Given the description of an element on the screen output the (x, y) to click on. 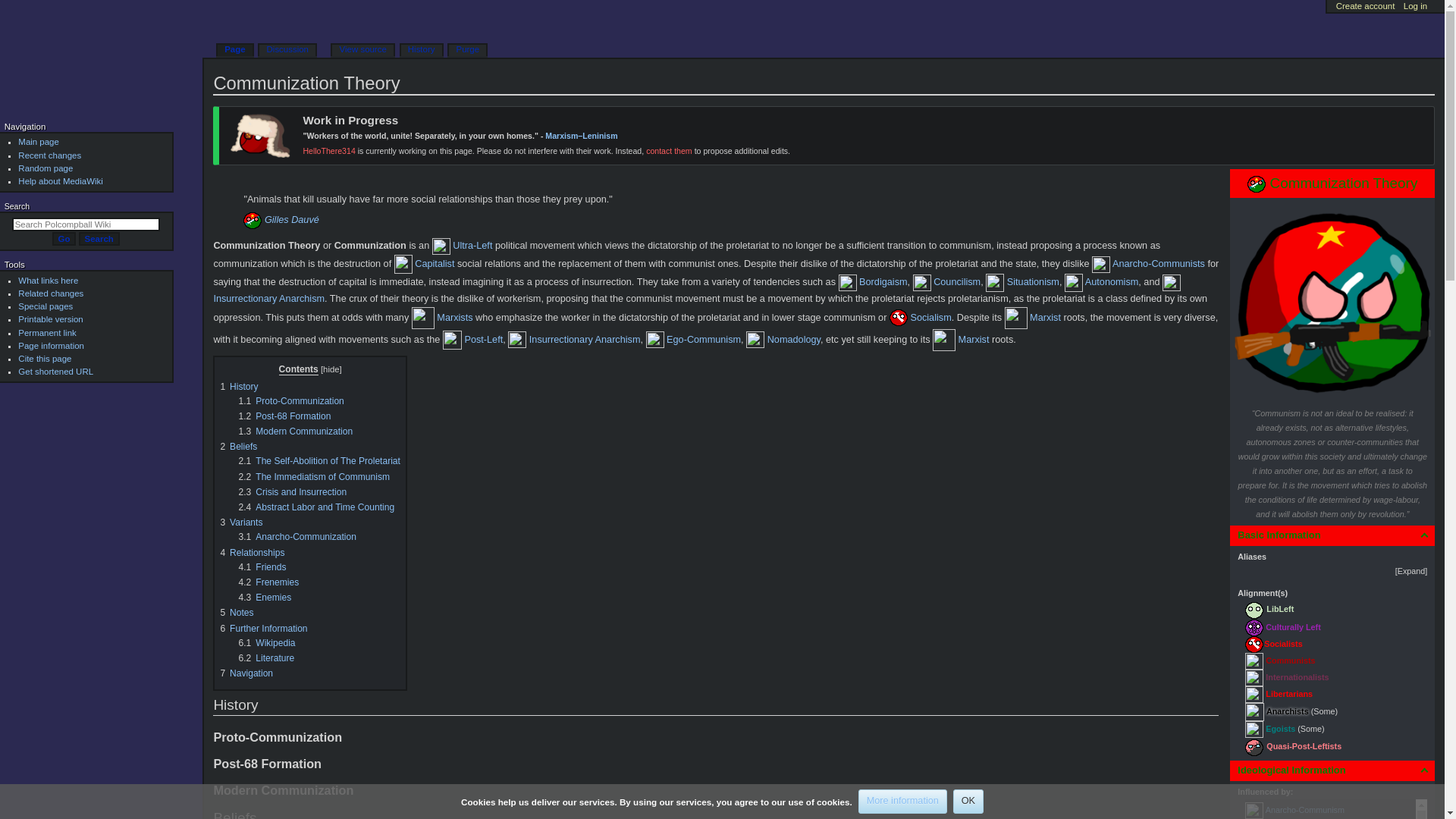
Category:Libertarian Left (1279, 609)
Libertarians (1289, 693)
Category:Socialists (1253, 643)
 Communists  (1290, 660)
Category:Libertarians (1253, 693)
Category:Communists (1253, 660)
 LibLeft  (1279, 609)
CommunizationImage.png (1332, 298)
Search (98, 238)
Go (63, 238)
Category:Communists (1290, 660)
Quasi-Post-Leftists (1303, 746)
Anarcho-Communism (1304, 809)
 Socialists  (1283, 643)
